Given the description of an element on the screen output the (x, y) to click on. 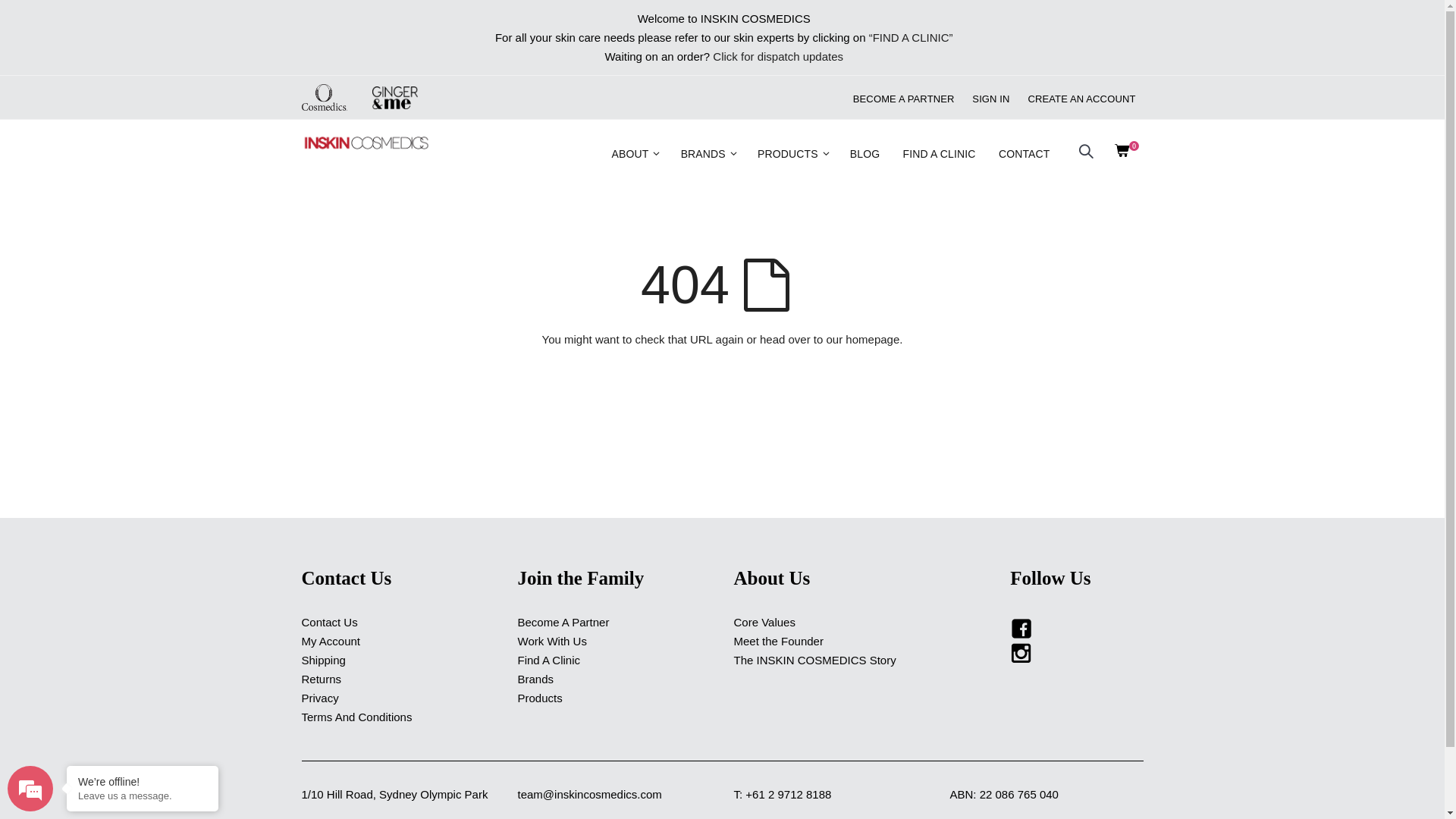
Become A Partner Element type: text (562, 621)
Cart
0 Element type: text (1131, 153)
BLOG Element type: text (864, 153)
Products Element type: text (539, 697)
BRANDS Element type: text (708, 153)
Shipping Element type: text (323, 659)
CONTACT Element type: text (1024, 153)
Meet the Founder Element type: text (778, 640)
The INSKIN COSMEDICS Story Element type: text (815, 659)
My Account Element type: text (330, 640)
Facebook Element type: hover (1021, 627)
ABOUT Element type: text (635, 153)
Find A Clinic Element type: text (548, 659)
CREATE AN ACCOUNT Element type: text (1080, 98)
Privacy Element type: text (319, 697)
FIND A CLINIC Element type: text (939, 153)
Terms And Conditions Element type: text (356, 716)
INSKIN COSMEDICS Element type: hover (365, 142)
Brands Element type: text (535, 678)
Returns Element type: text (321, 678)
Work With Us Element type: text (551, 640)
BECOME A PARTNER Element type: text (903, 98)
PRODUCTS Element type: text (793, 153)
homepage. Element type: text (873, 338)
Click for dispatch updates Element type: text (777, 56)
Core Values Element type: text (764, 621)
Contact Us Element type: text (329, 621)
Instagram Element type: hover (1021, 652)
SIGN IN Element type: text (990, 98)
